Given the description of an element on the screen output the (x, y) to click on. 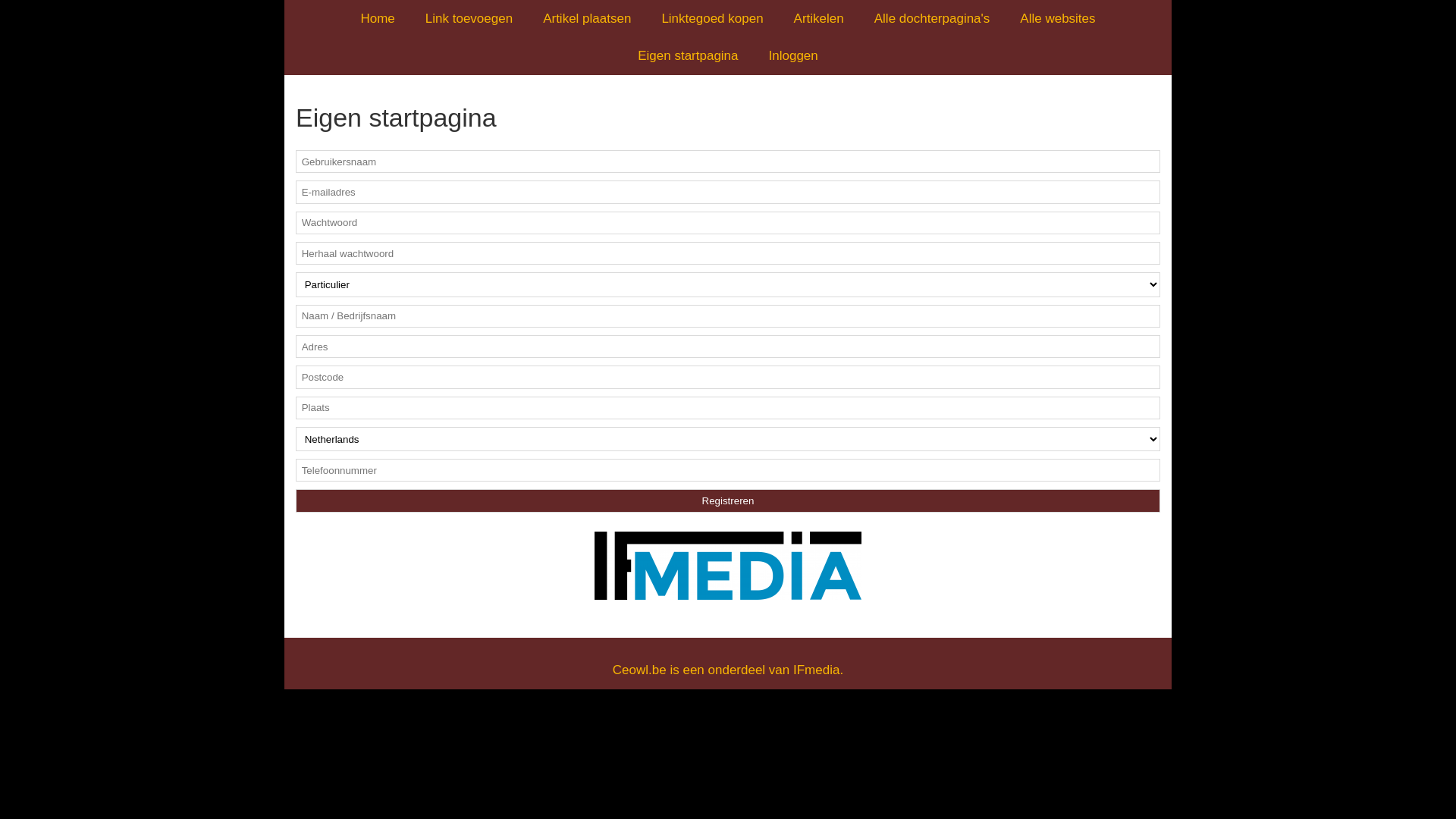
Registreren Element type: text (727, 500)
Link toevoegen Element type: text (468, 18)
Artikel plaatsen Element type: text (586, 18)
Inloggen Element type: text (793, 55)
Eigen startpagina Element type: text (687, 55)
Artikelen Element type: text (818, 18)
Home Element type: text (377, 18)
Linktegoed kopen Element type: text (712, 18)
Alle dochterpagina's Element type: text (932, 18)
Alle websites Element type: text (1057, 18)
